Given the description of an element on the screen output the (x, y) to click on. 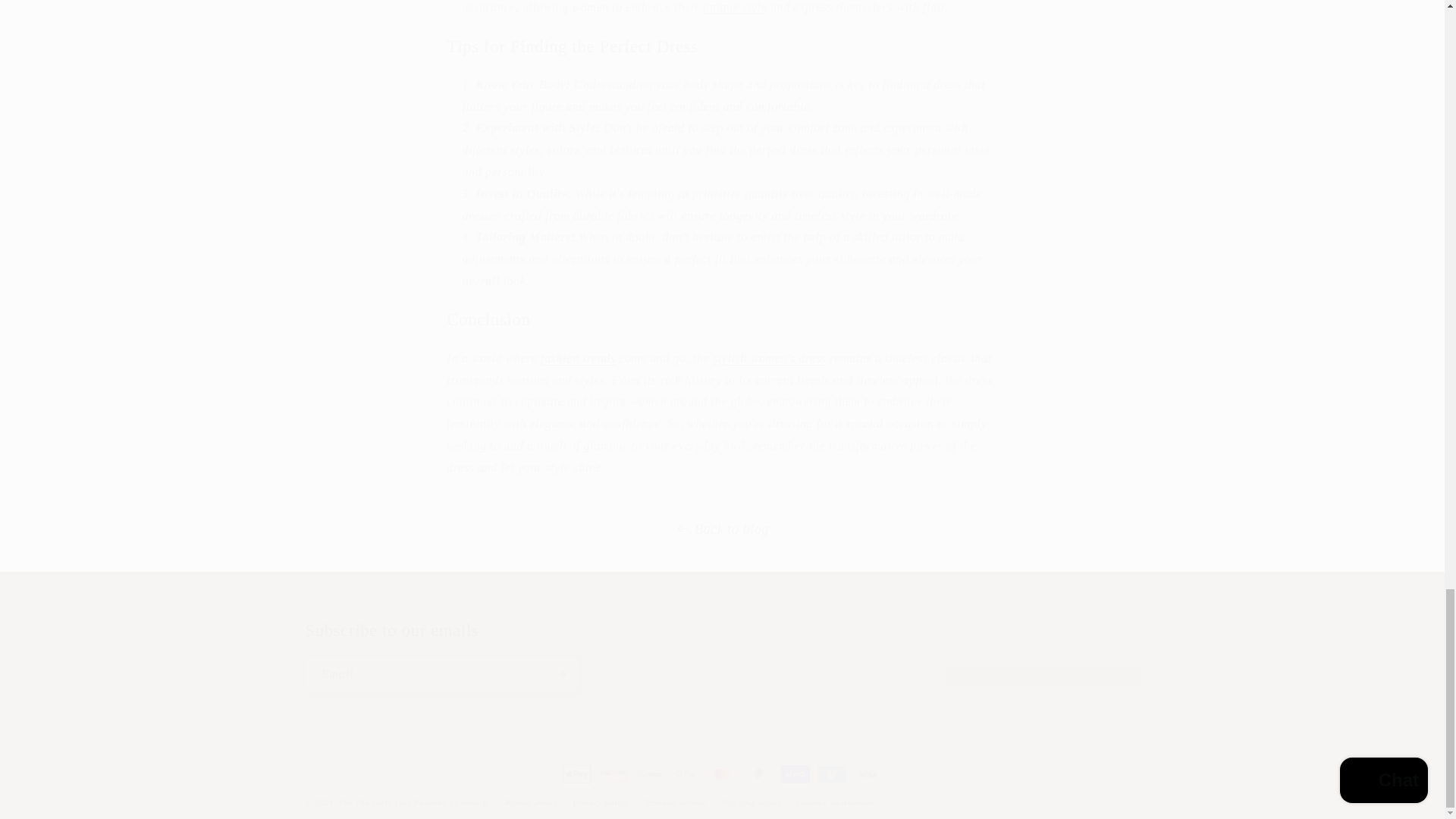
stylish women's dress (770, 358)
unique style (735, 6)
fashion trends (577, 358)
